Given the description of an element on the screen output the (x, y) to click on. 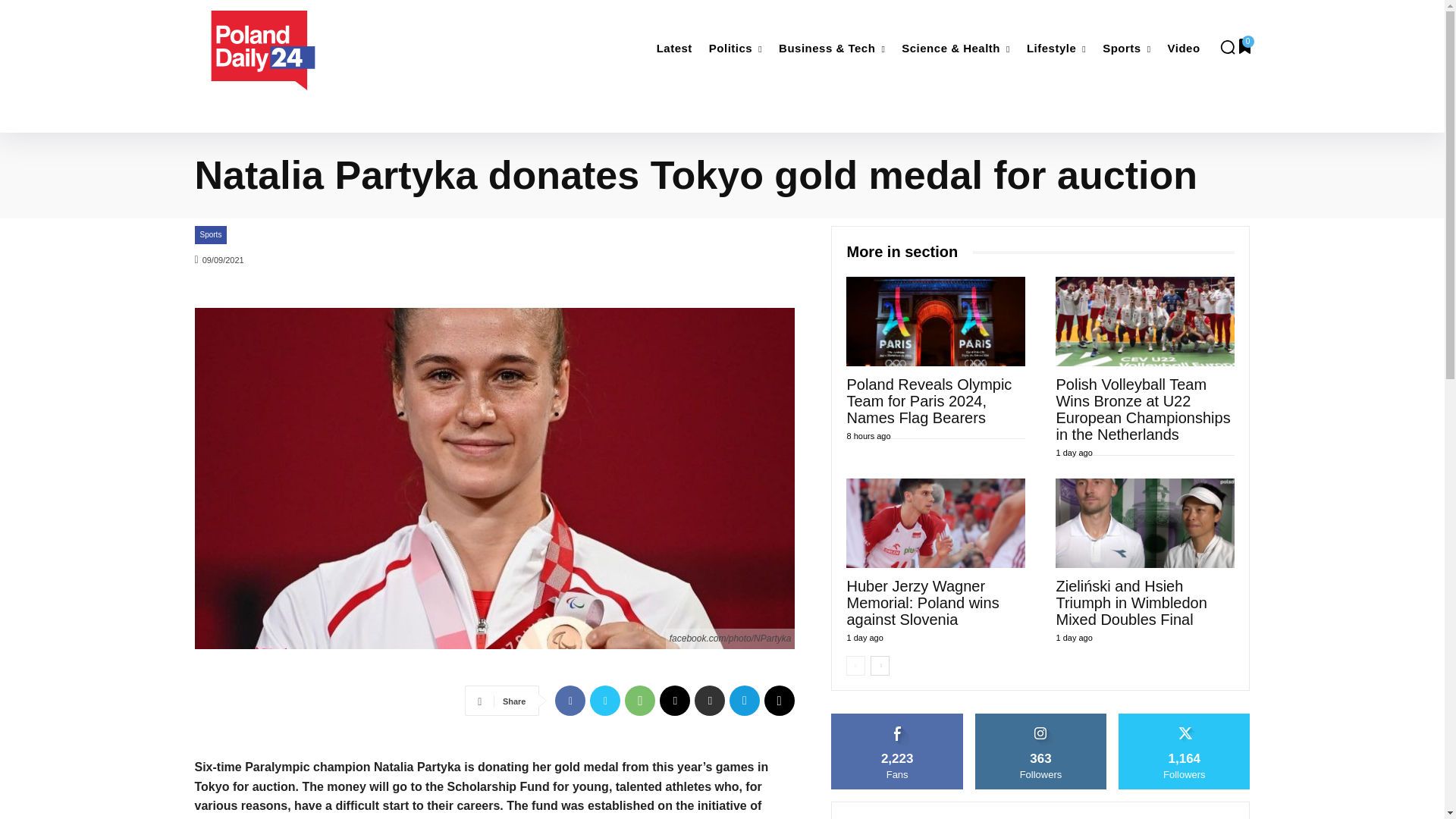
Politics (735, 48)
